Given the description of an element on the screen output the (x, y) to click on. 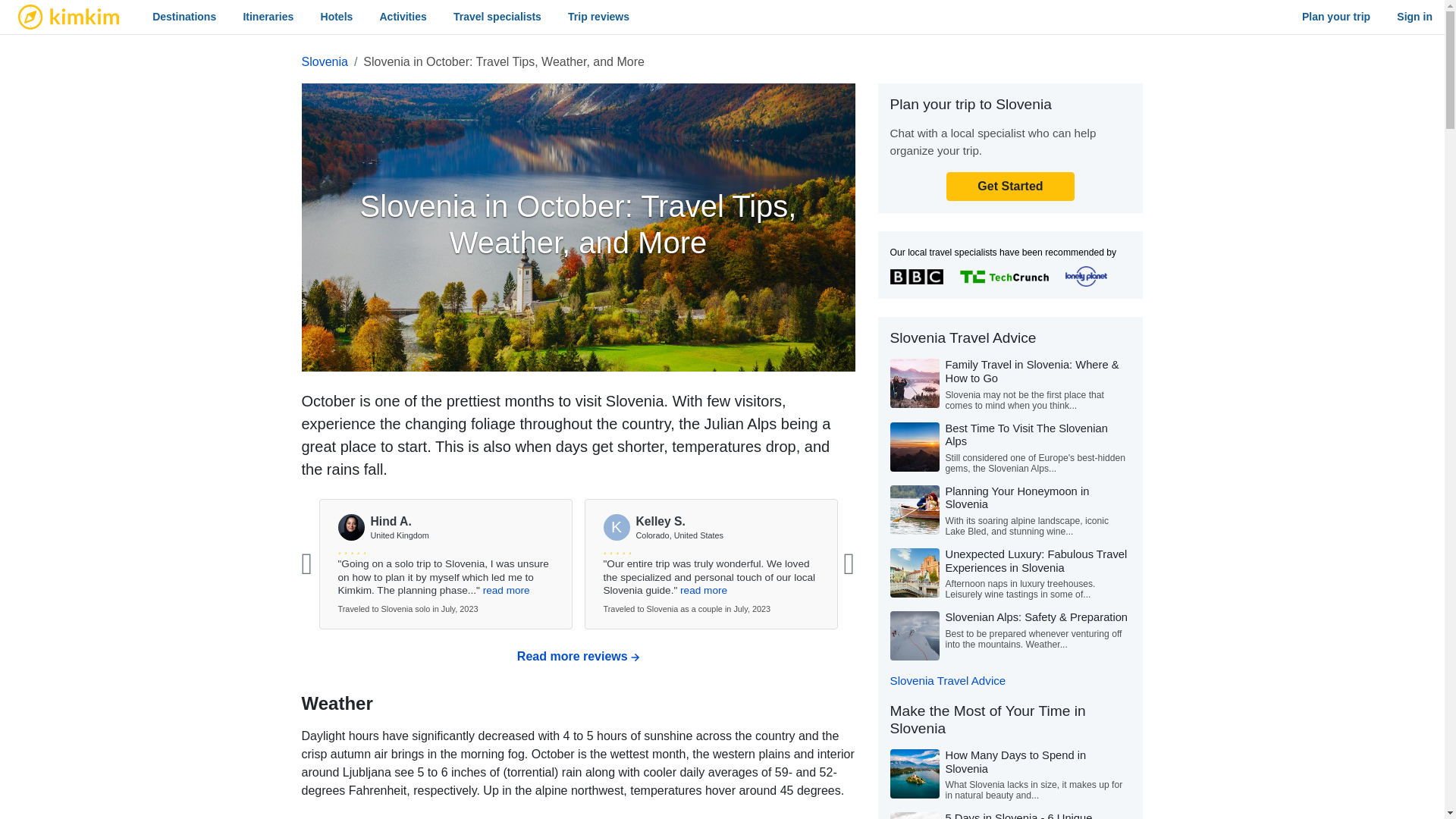
Destinations (184, 17)
How Many Days to Spend in Slovenia (1015, 761)
Planning Your Honeymoon in Slovenia (1016, 498)
Best Time To Visit The Slovenian Alps (1025, 434)
5 Days in Slovenia - 6 Unique Itinerary Ideas (1018, 815)
Sign in (1414, 17)
kimkim (68, 17)
Unexpected Luxury: Fabulous Travel Experiences in Slovenia (1035, 560)
